Given the description of an element on the screen output the (x, y) to click on. 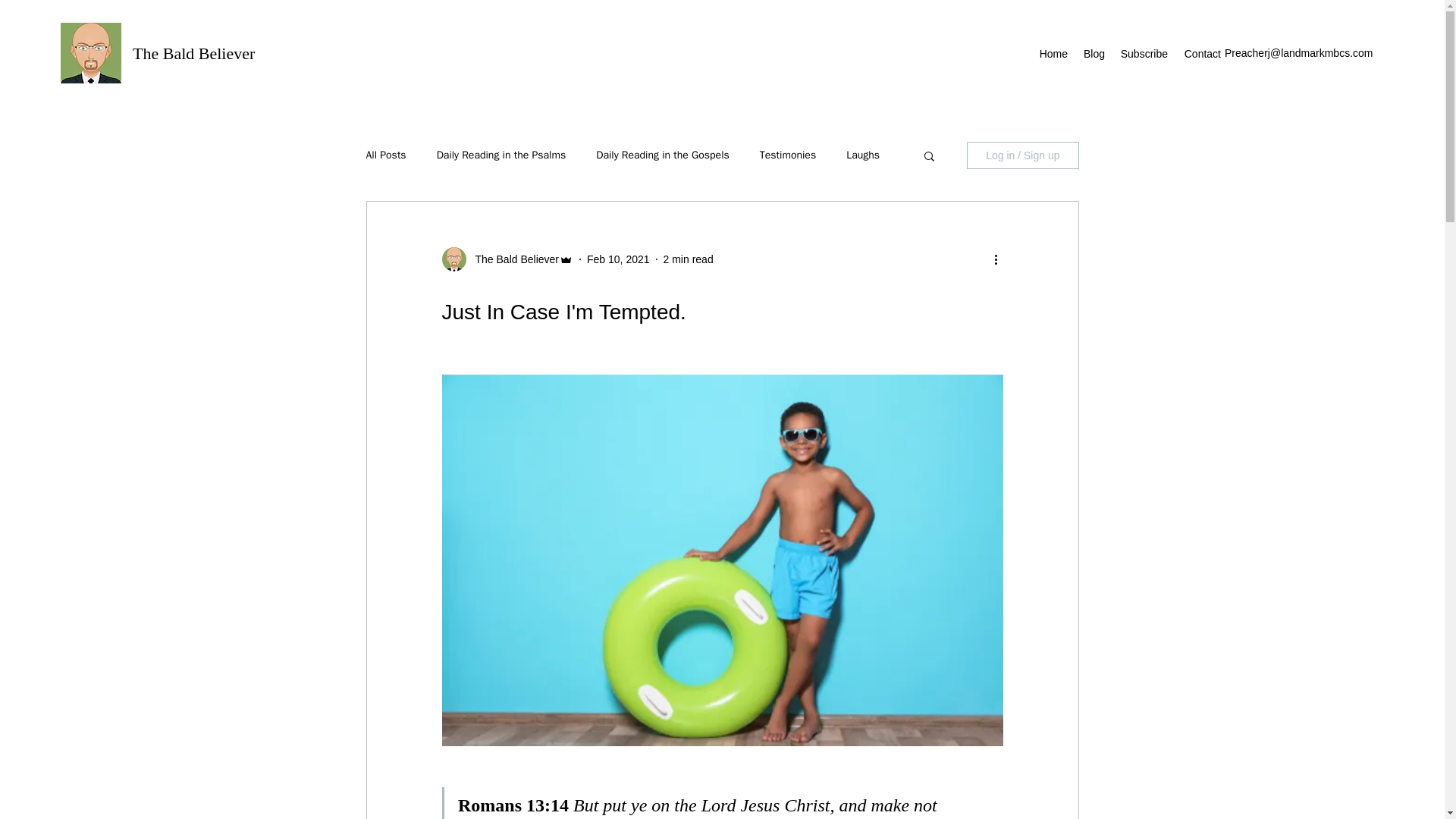
The Bald Believer (193, 53)
Subscribe (1143, 53)
2 min read (688, 259)
Feb 10, 2021 (617, 259)
Home (1052, 53)
All Posts (385, 155)
Daily Reading in the Gospels (662, 155)
Testimonies (787, 155)
Daily Reading in the Psalms (501, 155)
Blog (1093, 53)
